Given the description of an element on the screen output the (x, y) to click on. 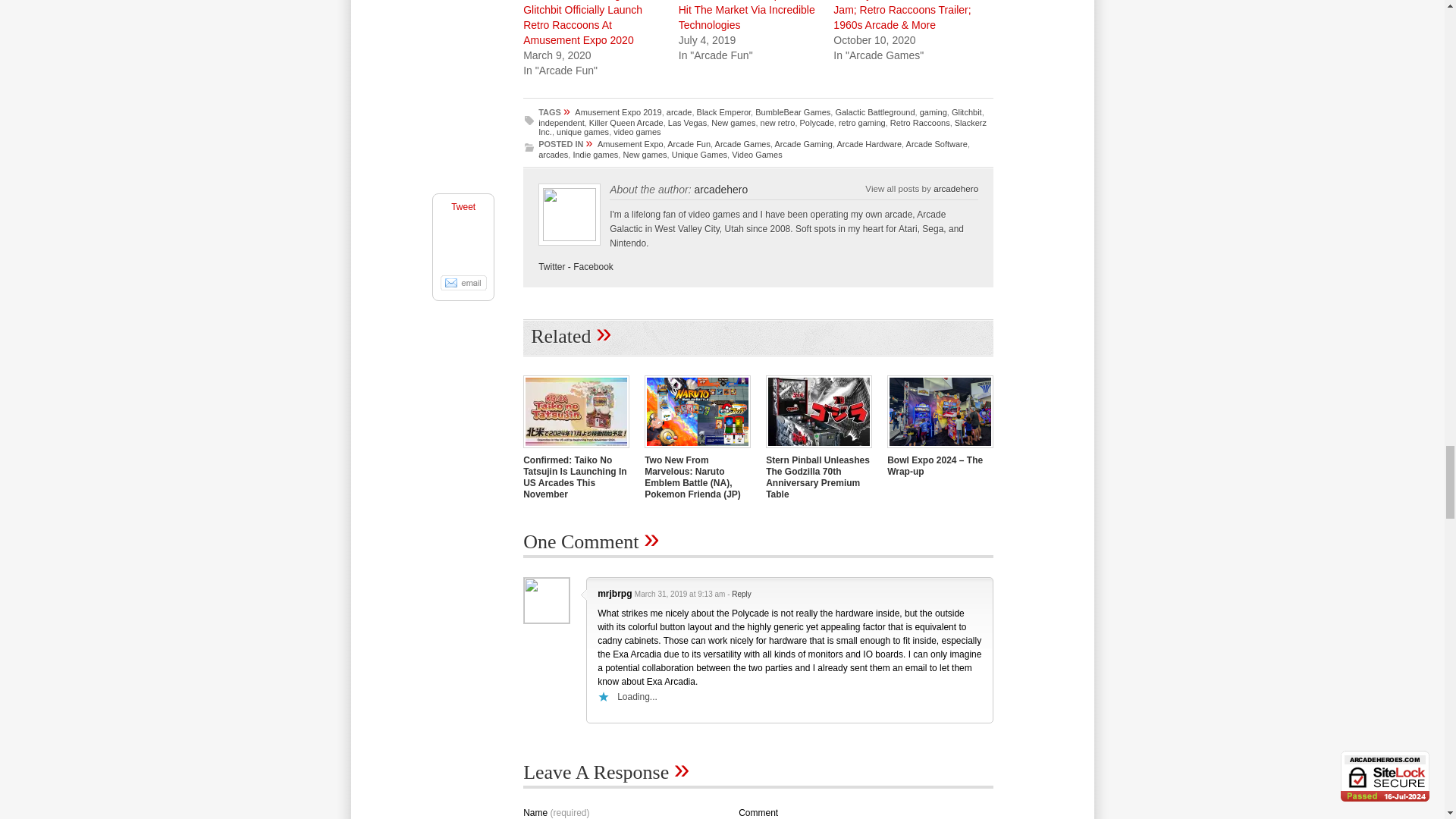
gaming (933, 112)
arcade (679, 112)
BumbleBear Games (792, 112)
Black Emperor (724, 112)
Galactic Battleground (874, 112)
Amusement Expo 2019 (618, 112)
Posts by arcadehero (955, 188)
